Given the description of an element on the screen output the (x, y) to click on. 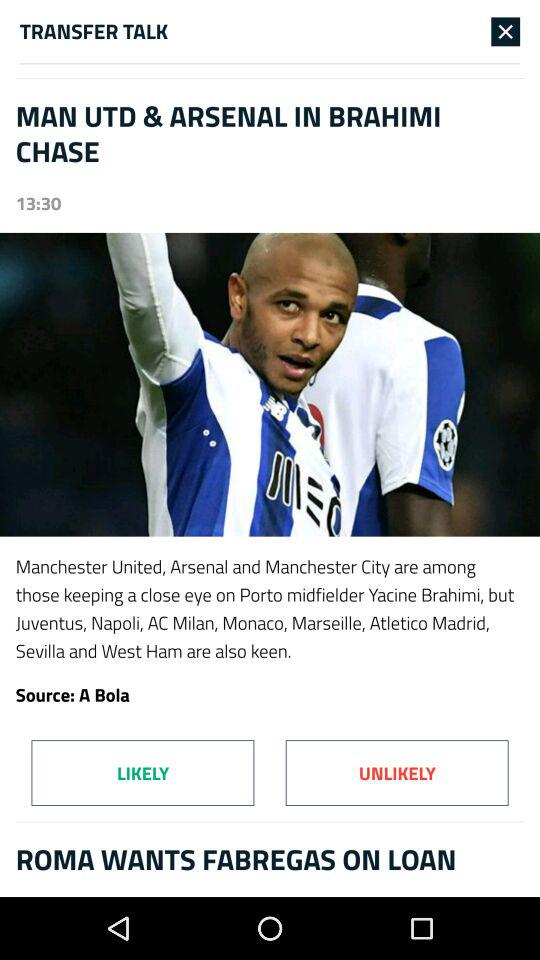
jump to unlikely item (396, 772)
